Given the description of an element on the screen output the (x, y) to click on. 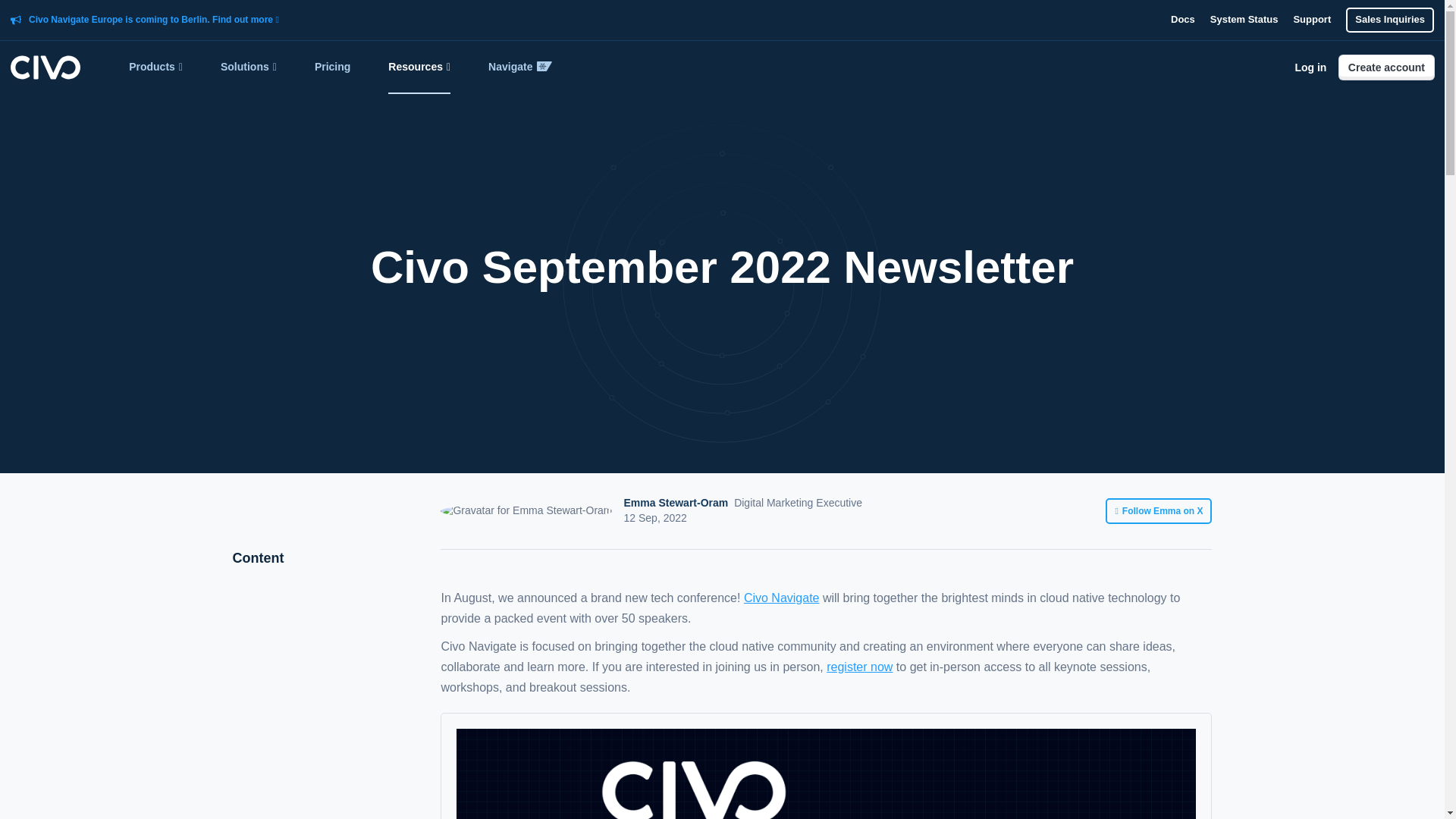
Docs (1182, 20)
Civo Navigate Europe is coming to Berlin. Find out more (154, 19)
Solutions (248, 67)
Resources (418, 67)
Products (156, 67)
Sales Inquiries (1389, 19)
Navigate (519, 67)
Support (1311, 20)
System Status (1243, 20)
